Given the description of an element on the screen output the (x, y) to click on. 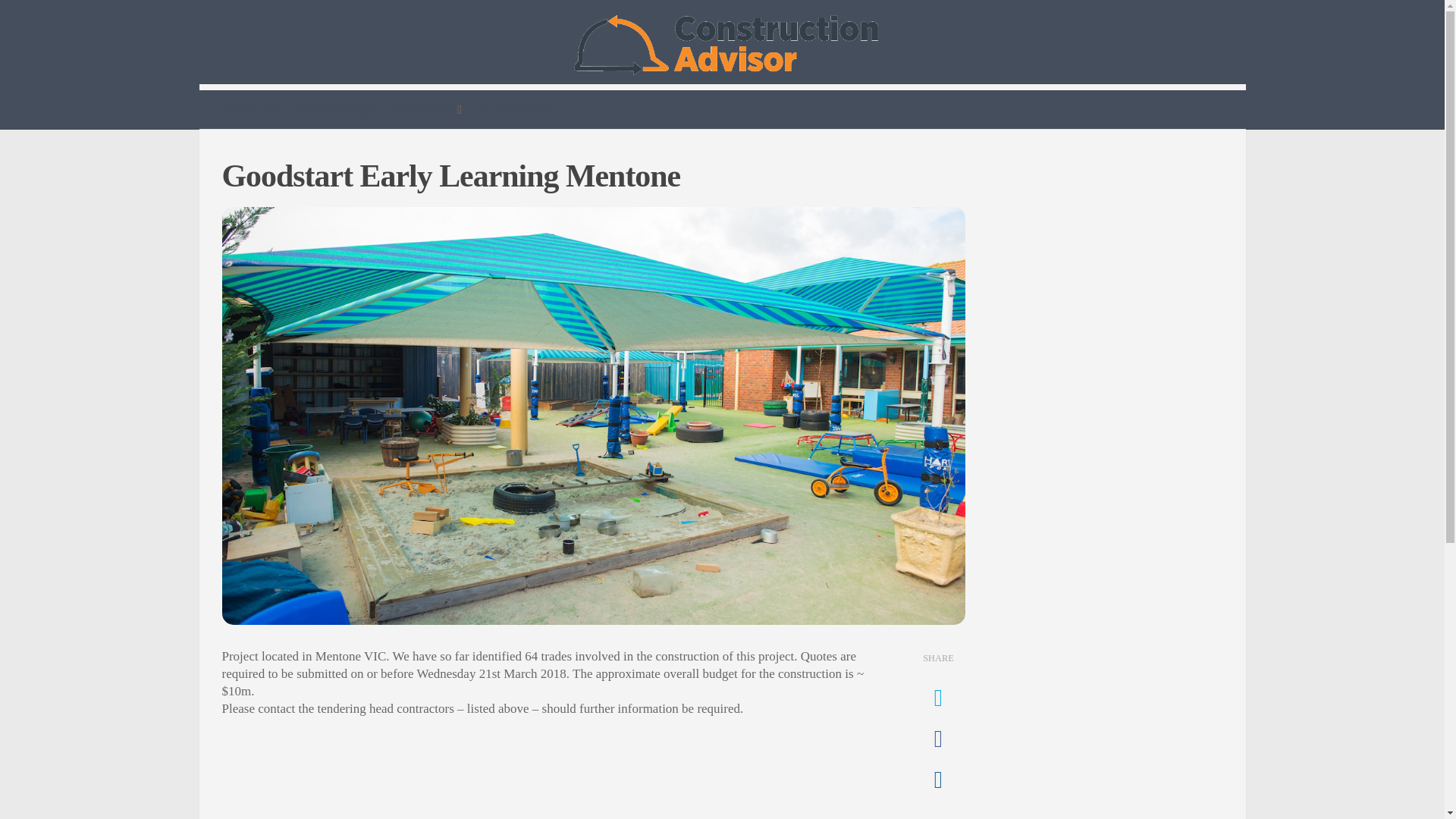
Contact Us (515, 108)
About Us (248, 108)
Skip to content (59, 20)
Our Services (335, 108)
Wellbeing (427, 109)
